Given the description of an element on the screen output the (x, y) to click on. 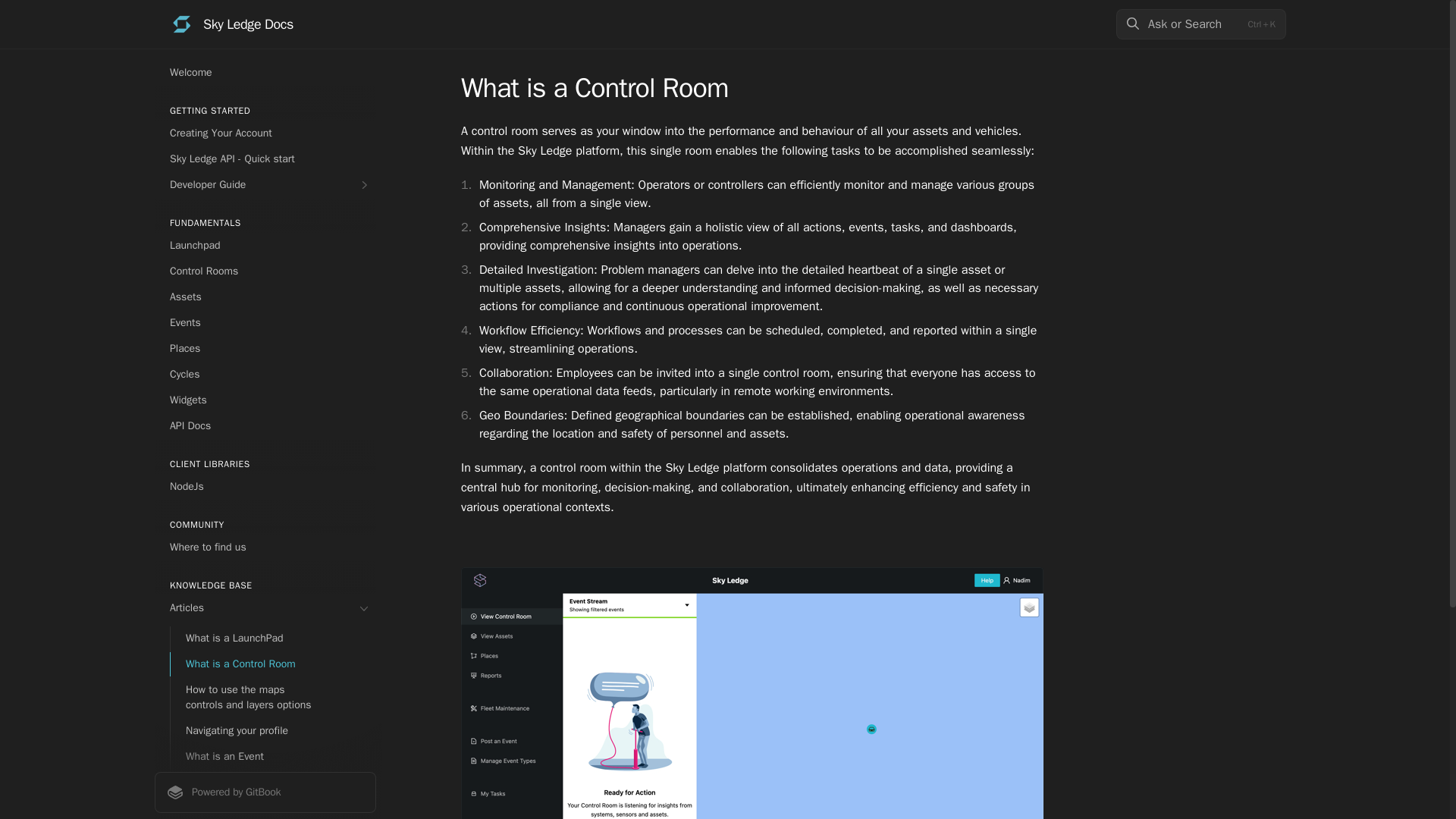
Widgets (264, 400)
Places (264, 348)
What is a Control Room (272, 663)
Articles (264, 607)
Launchpad (264, 245)
Cycles (264, 374)
Navigating your profile (272, 730)
What is an Event (272, 756)
Sky Ledge Docs (232, 24)
Developer Guide (264, 184)
